Given the description of an element on the screen output the (x, y) to click on. 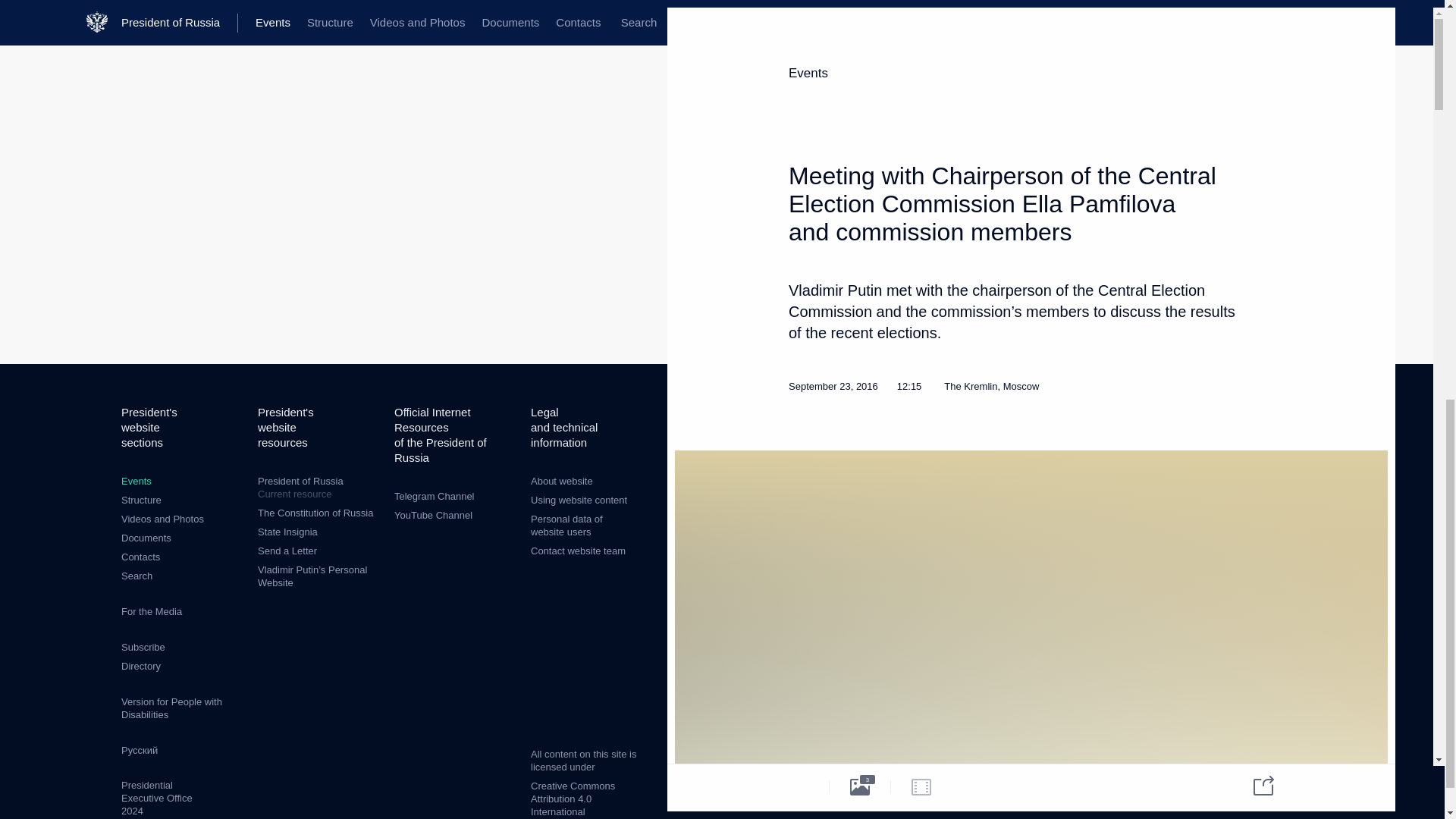
Directory (140, 665)
For the Media (151, 611)
Videos and Photos (161, 518)
Contacts (140, 556)
The Constitution of Russia (314, 512)
Events (135, 480)
About website (317, 487)
Personal data of website users (561, 480)
Telegram Channel (566, 525)
